Given the description of an element on the screen output the (x, y) to click on. 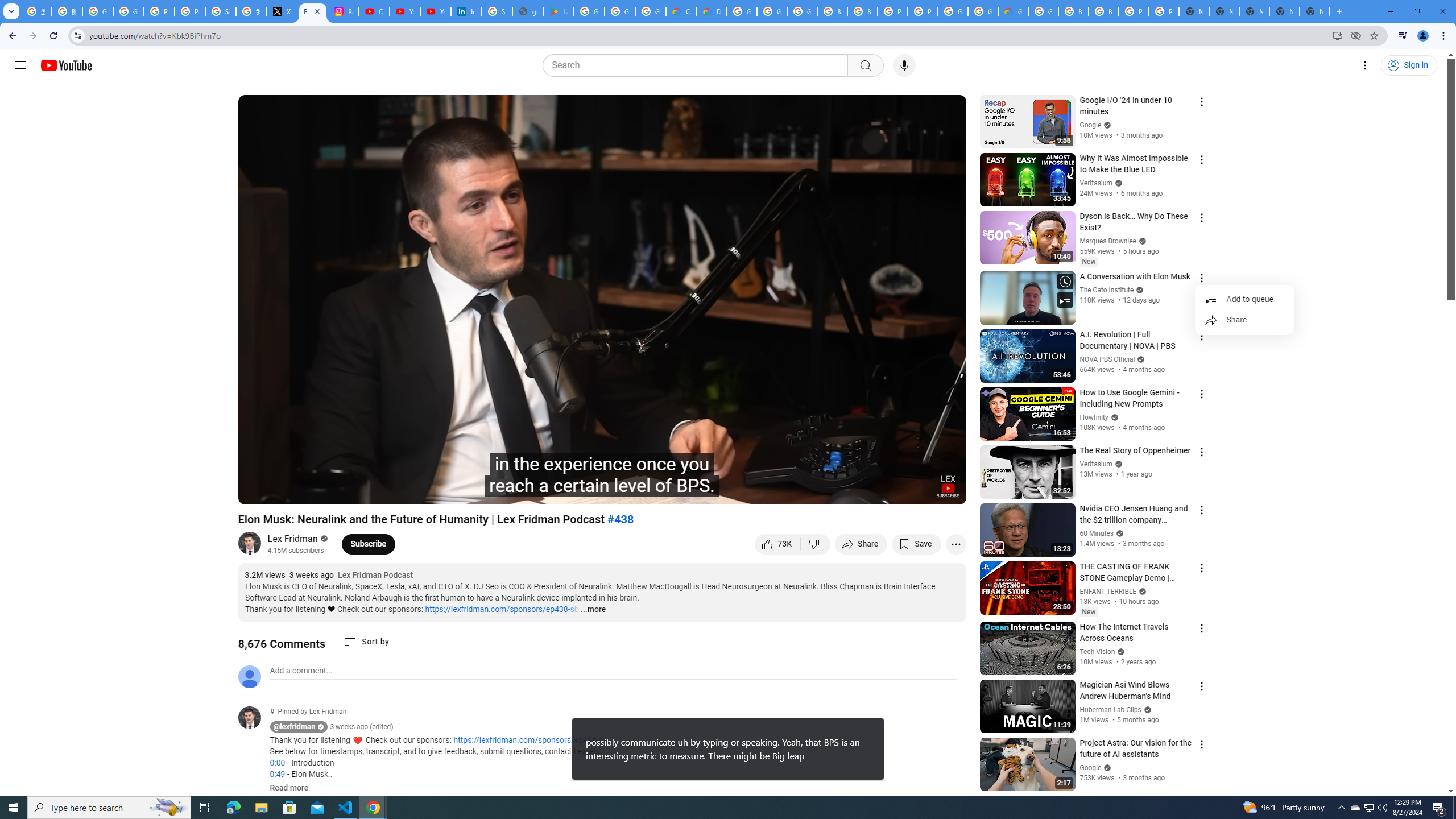
Share (1243, 319)
New Tab (1314, 11)
Google Cloud Platform (1042, 11)
New (1087, 611)
like this video along with 73,133 other people (777, 543)
...more (592, 609)
Seek slider (601, 476)
Channel watermark (947, 486)
Sign in - Google Accounts (496, 11)
